Given the description of an element on the screen output the (x, y) to click on. 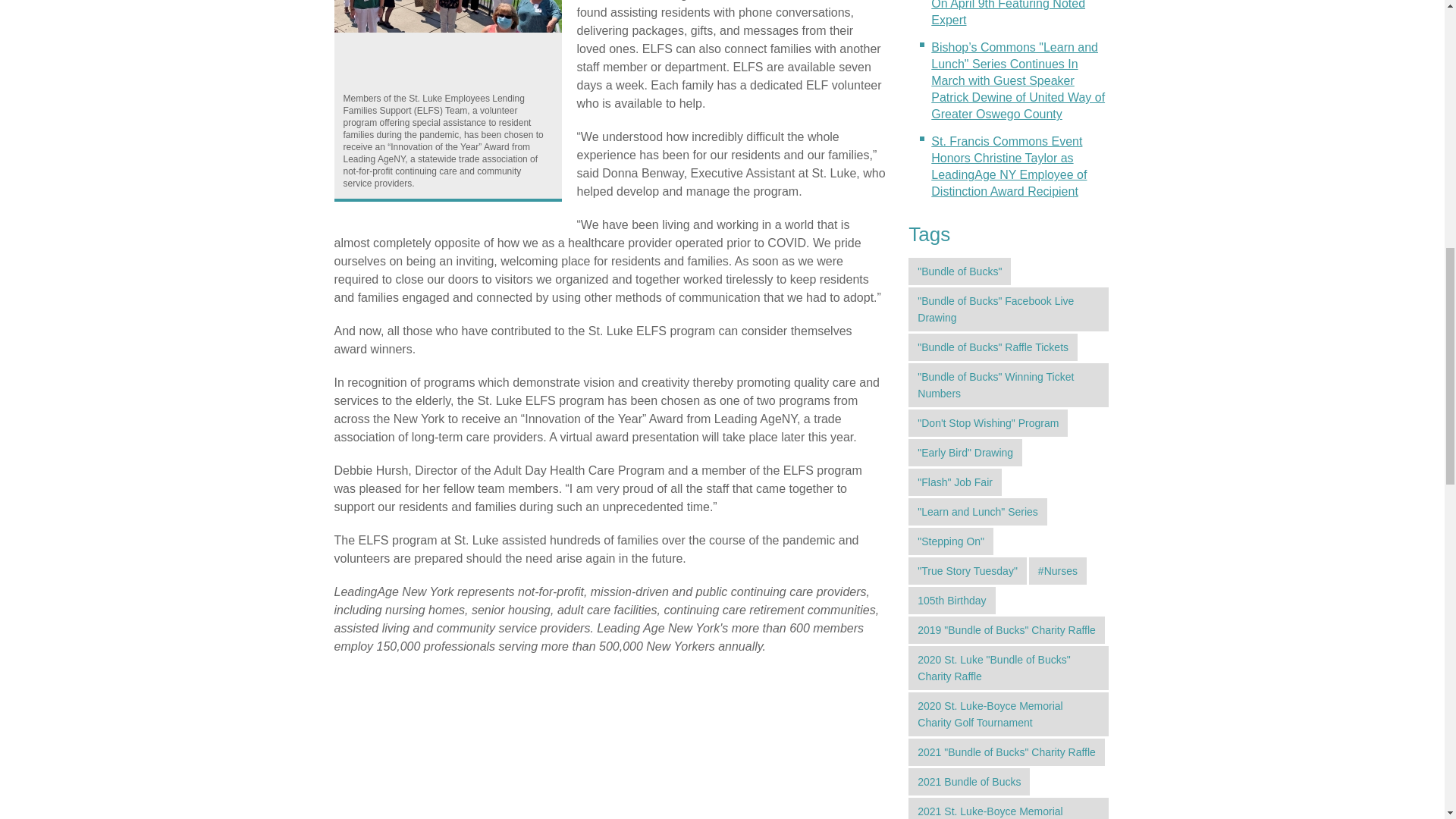
"Don't Stop Wishing" Program (987, 422)
"Bundle of Bucks" Facebook Live Drawing (1008, 309)
"Bundle of Bucks" (959, 271)
"Bundle of Bucks" Winning Ticket Numbers (1008, 385)
"Early Bird" Drawing (965, 452)
"Bundle of Bucks" Raffle Tickets (992, 347)
